Given the description of an element on the screen output the (x, y) to click on. 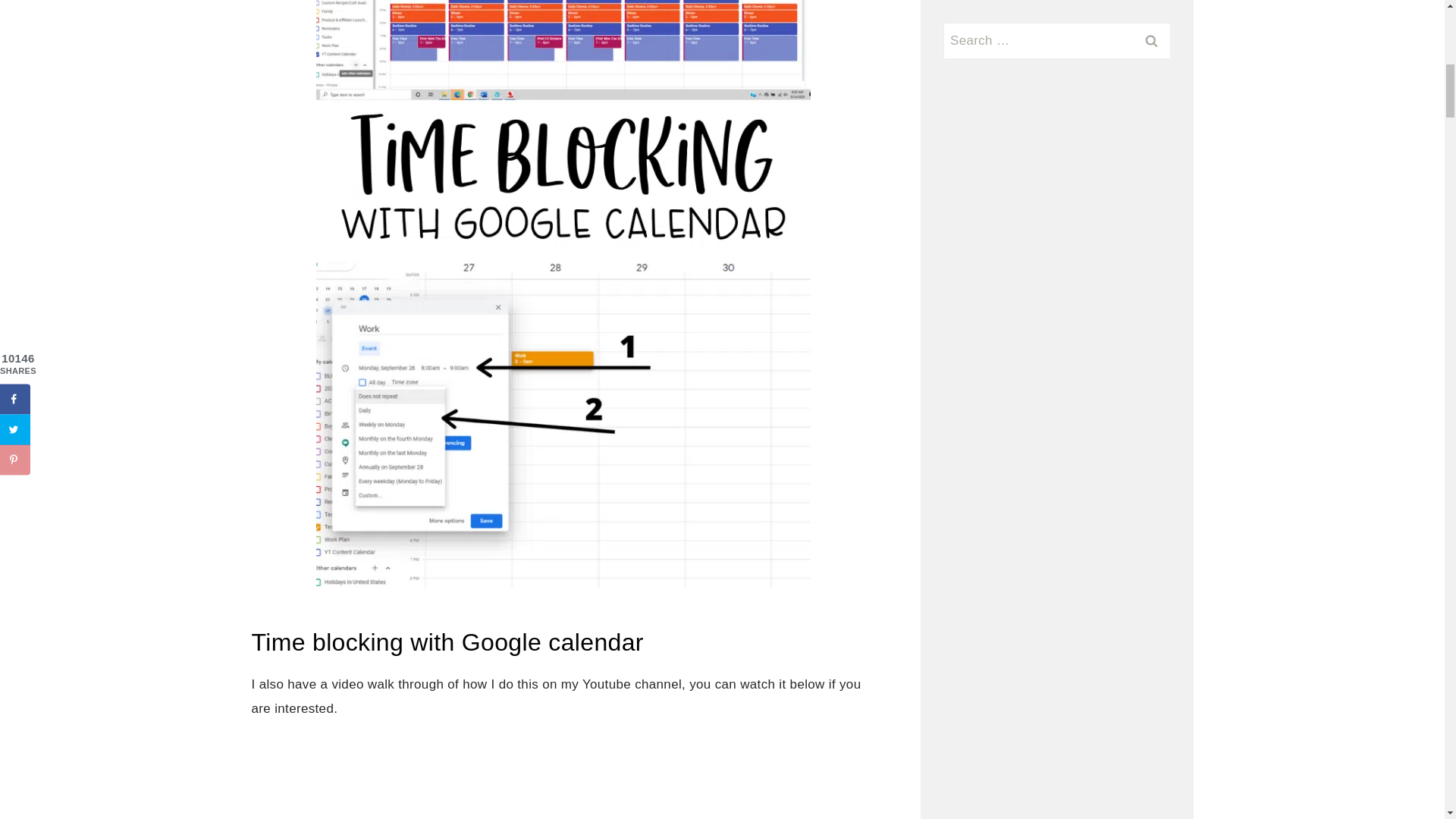
Search (1151, 40)
Search (1151, 40)
